Given the description of an element on the screen output the (x, y) to click on. 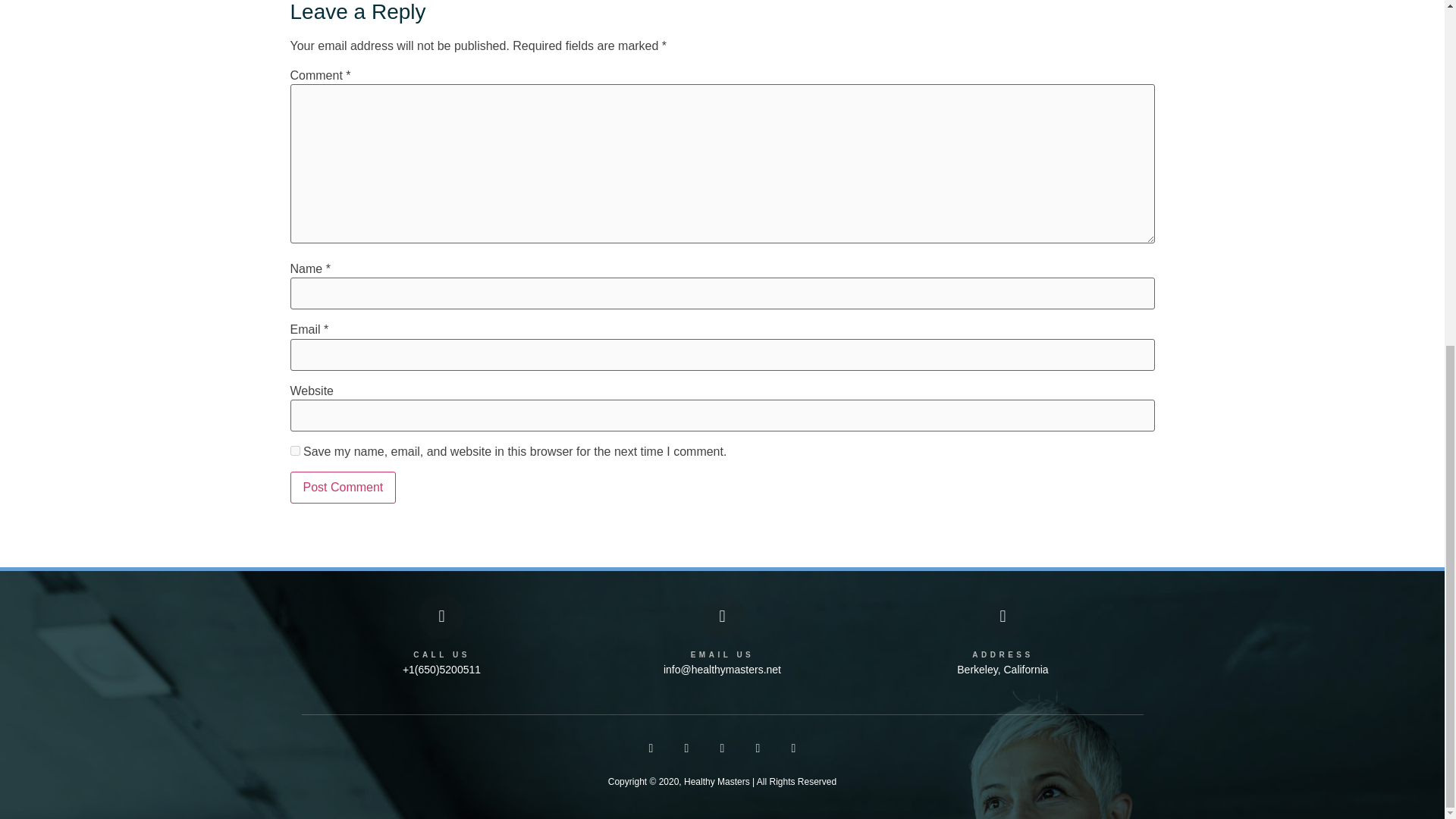
Post Comment (342, 487)
EMAIL US (722, 654)
CALL US (441, 654)
yes (294, 450)
Post Comment (342, 487)
ADDRESS (1002, 654)
